Given the description of an element on the screen output the (x, y) to click on. 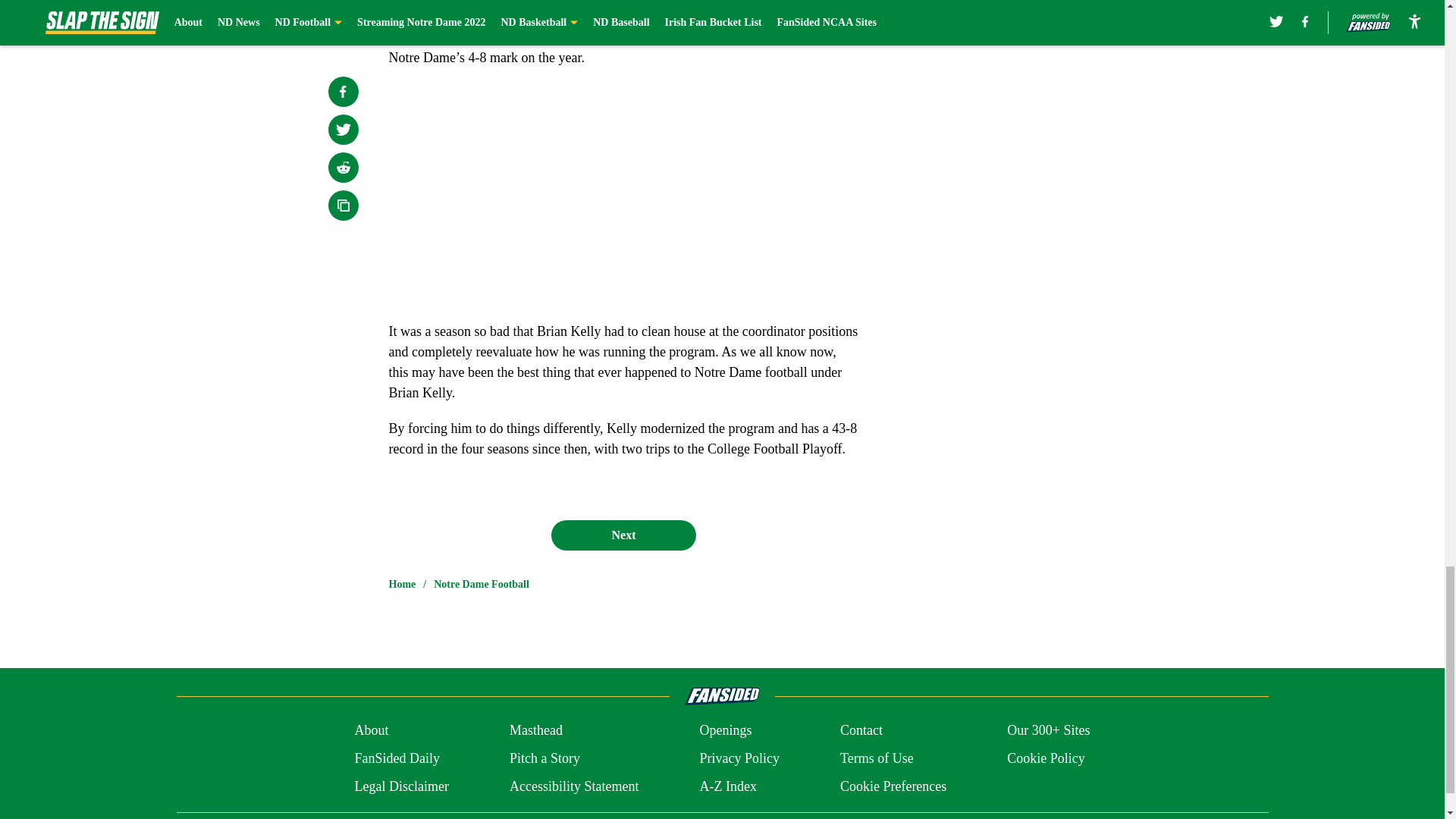
FanSided Daily (396, 758)
Notre Dame Football (481, 584)
Next (622, 535)
Home (401, 584)
Contact (861, 730)
Openings (724, 730)
Masthead (535, 730)
Privacy Policy (738, 758)
About (370, 730)
Pitch a Story (544, 758)
